Given the description of an element on the screen output the (x, y) to click on. 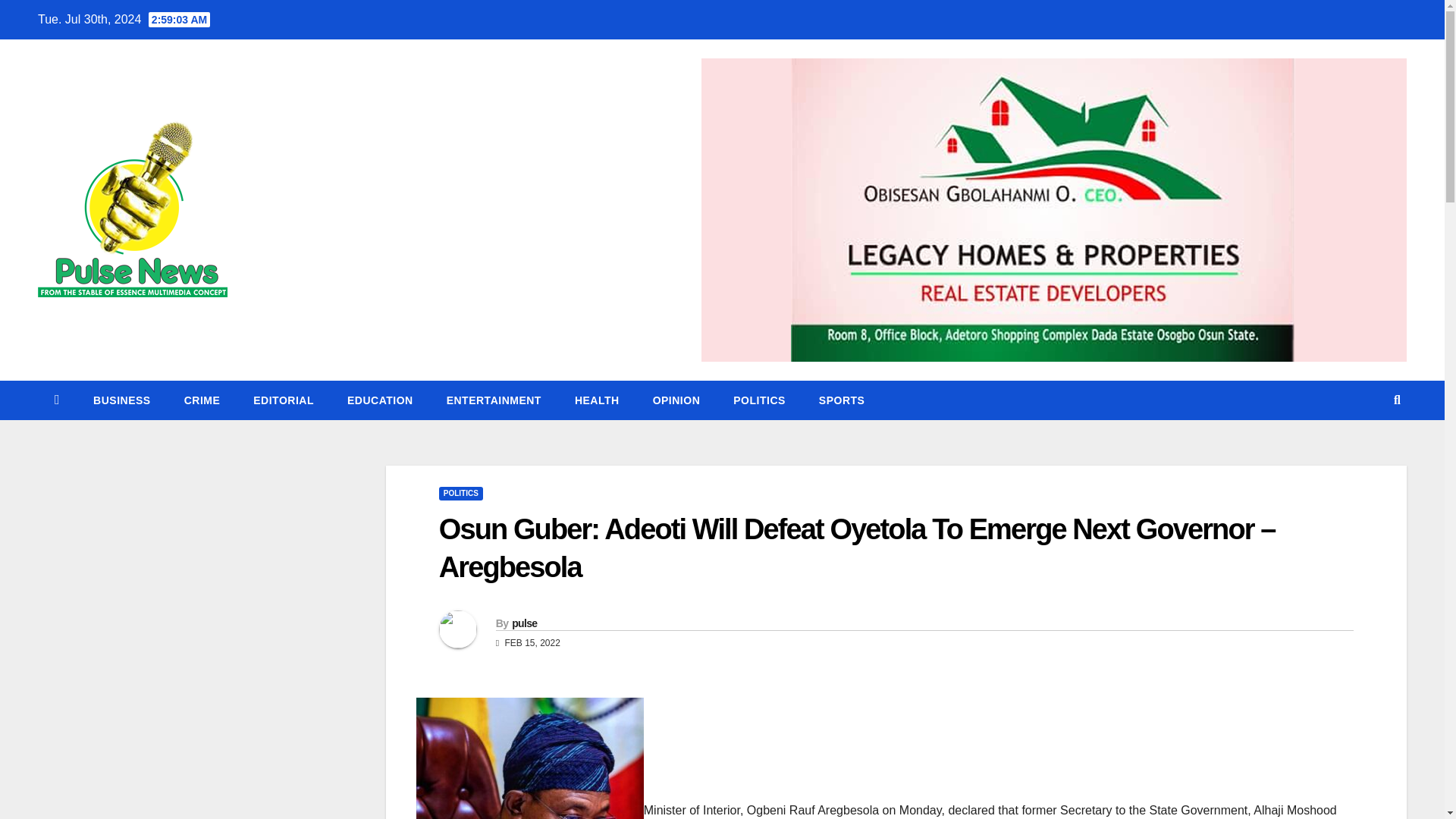
EDITORIAL (282, 400)
Health (596, 400)
SPORTS (842, 400)
HEALTH (596, 400)
Entertainment (493, 400)
Business (122, 400)
Editorial (282, 400)
OPINION (676, 400)
BUSINESS (122, 400)
ENTERTAINMENT (493, 400)
CRIME (202, 400)
Education (379, 400)
Opinion (676, 400)
Crime (202, 400)
POLITICS (461, 493)
